Given the description of an element on the screen output the (x, y) to click on. 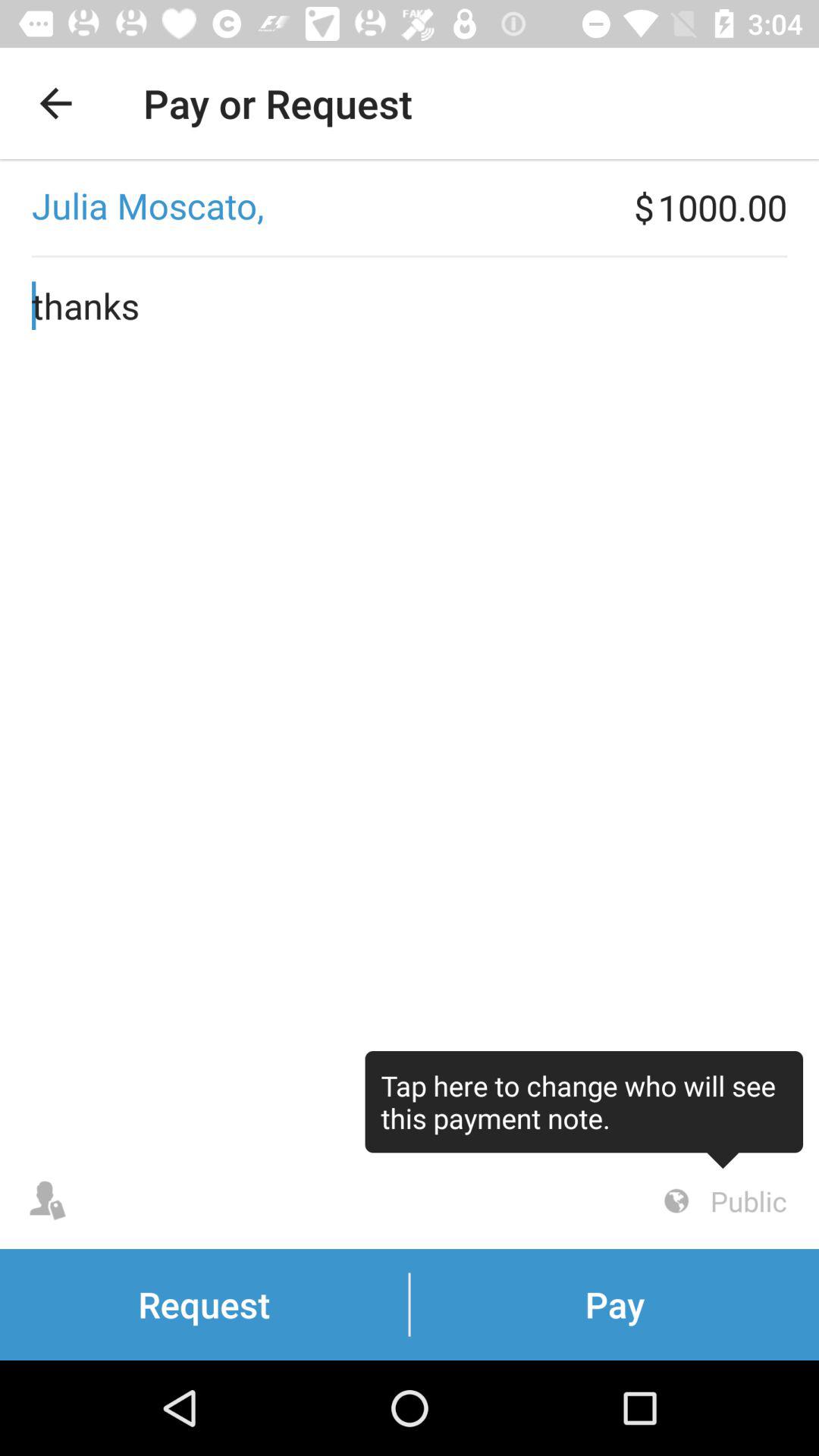
press the ,  icon (317, 207)
